Given the description of an element on the screen output the (x, y) to click on. 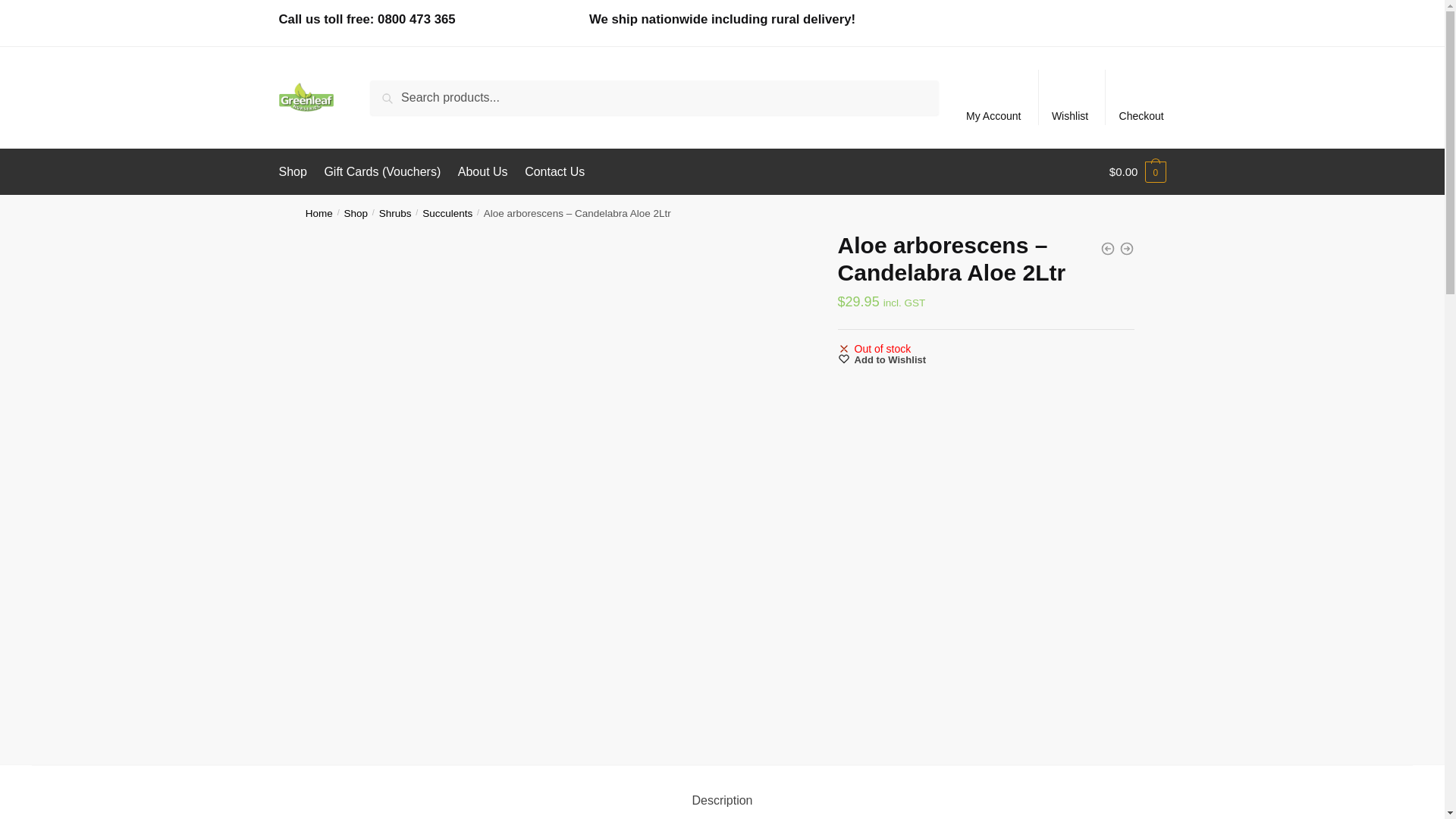
Search (393, 90)
Add to Wishlist (882, 359)
Contact Us (554, 171)
Succulents (446, 213)
Description (721, 800)
About Us (482, 171)
Home (319, 213)
Checkout (1141, 97)
Shrubs (395, 213)
My Account (993, 97)
Wishlist (1069, 97)
Shop (355, 213)
View your shopping cart (1137, 171)
